Given the description of an element on the screen output the (x, y) to click on. 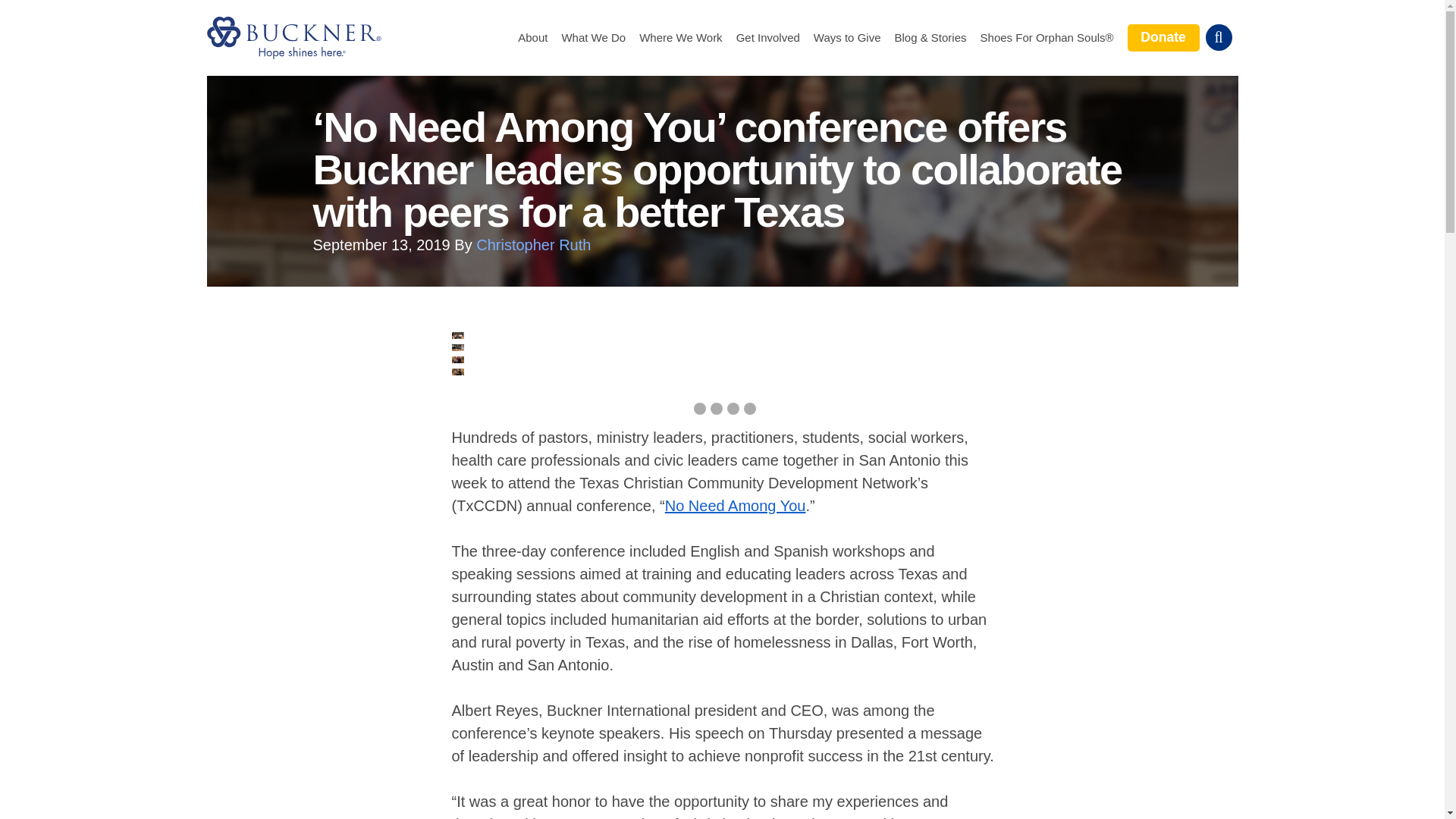
Donate (1162, 37)
Get Involved (767, 37)
Buckner International  (293, 37)
Where We Work (680, 37)
Ways to Give (846, 37)
Toggle Search (1218, 37)
No Need Among You (735, 505)
Christopher Ruth (533, 244)
